Given the description of an element on the screen output the (x, y) to click on. 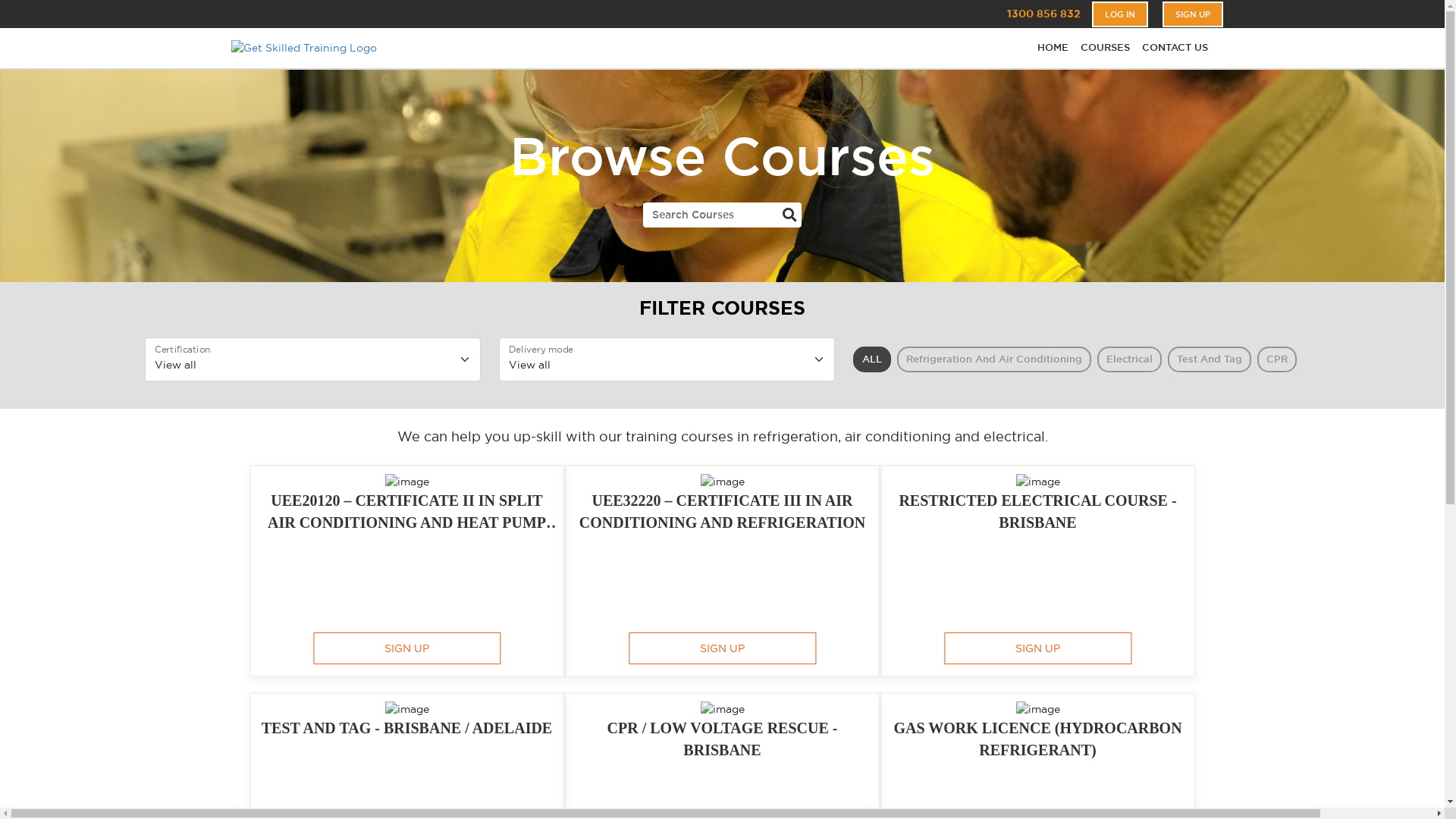
SIGN UP Element type: text (406, 648)
SIGN UP Element type: text (721, 648)
SIGN UP Element type: text (1191, 14)
CONTACT US Element type: text (1174, 48)
LOG IN Element type: text (1120, 14)
COURSES Element type: text (1104, 48)
SIGN UP Element type: text (1037, 648)
1300 856 832 Element type: text (1043, 13)
HOME Element type: text (1052, 48)
